Given the description of an element on the screen output the (x, y) to click on. 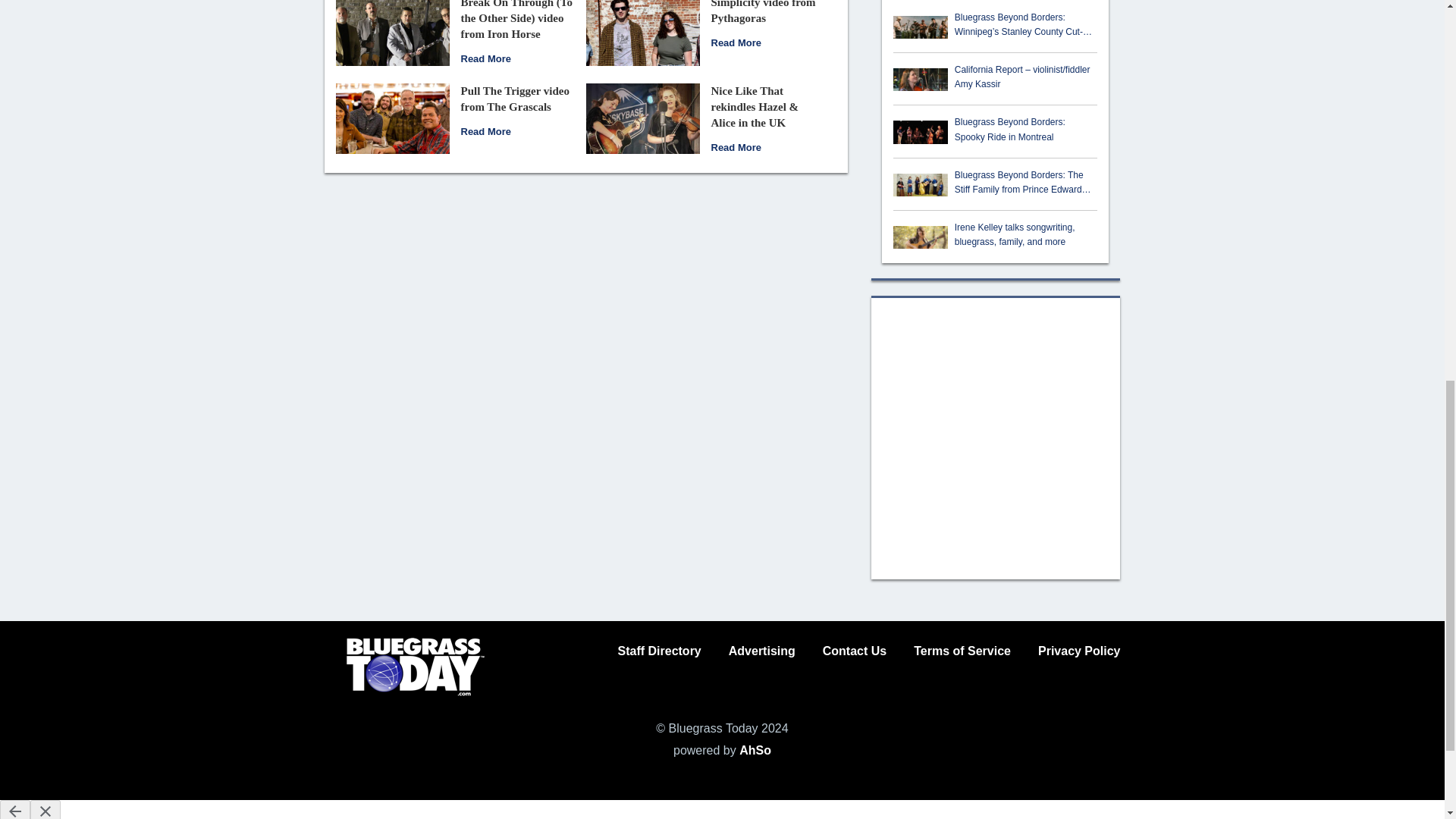
Simplicity video from Pythagoras (641, 29)
Pull The Trigger video from The Grascals (391, 117)
Simplicity video from Pythagoras (763, 12)
Pull The Trigger video from The Grascals (486, 131)
Simplicity video from Pythagoras (736, 42)
Pull The Trigger video from The Grascals (515, 99)
